Given the description of an element on the screen output the (x, y) to click on. 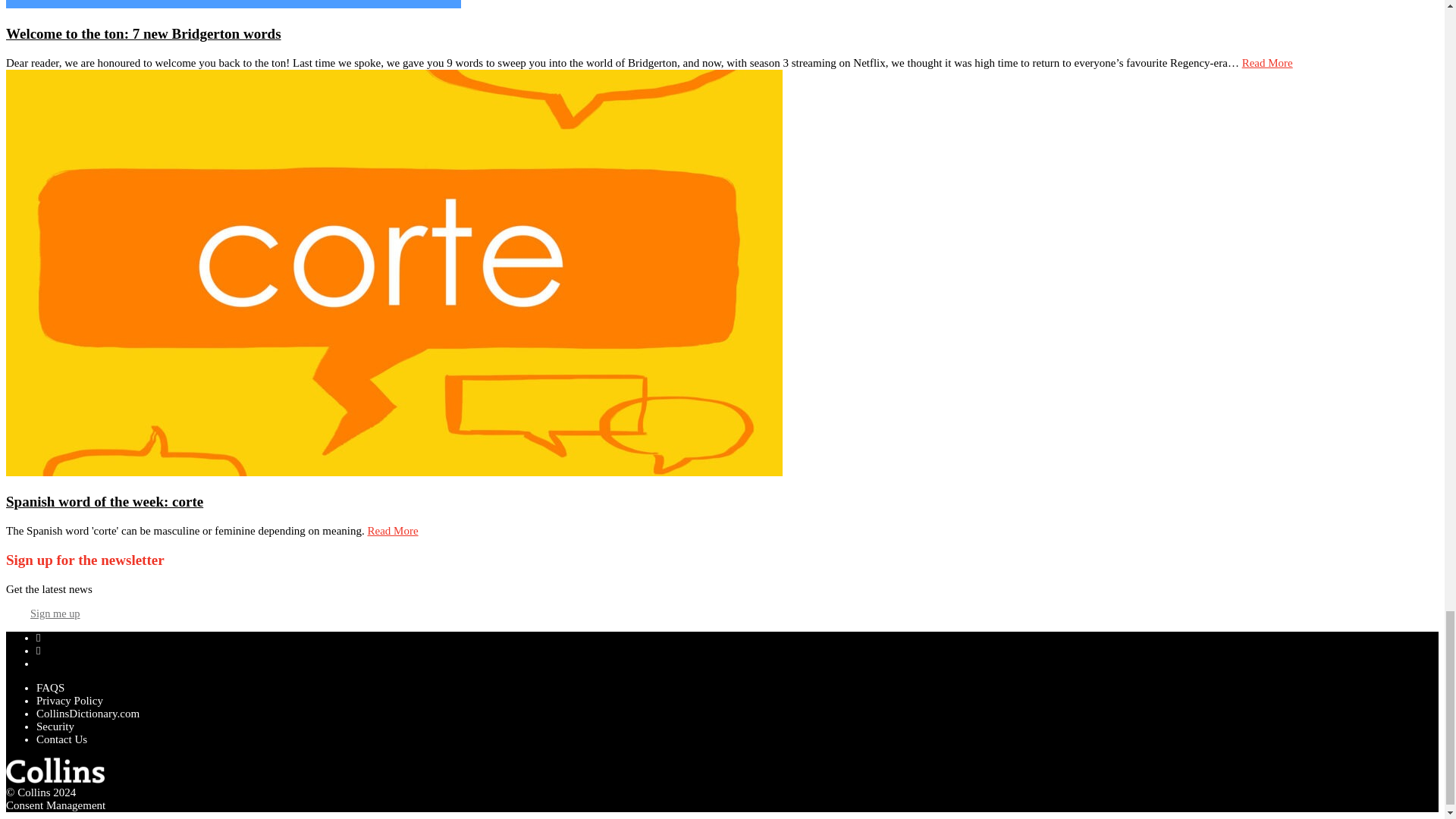
Consent Management (54, 805)
Read More (393, 530)
Spanish word of the week: corte (104, 501)
Read More (1266, 62)
Sign me up (54, 613)
Welcome to the ton: 7 new Bridgerton words (143, 33)
